Given the description of an element on the screen output the (x, y) to click on. 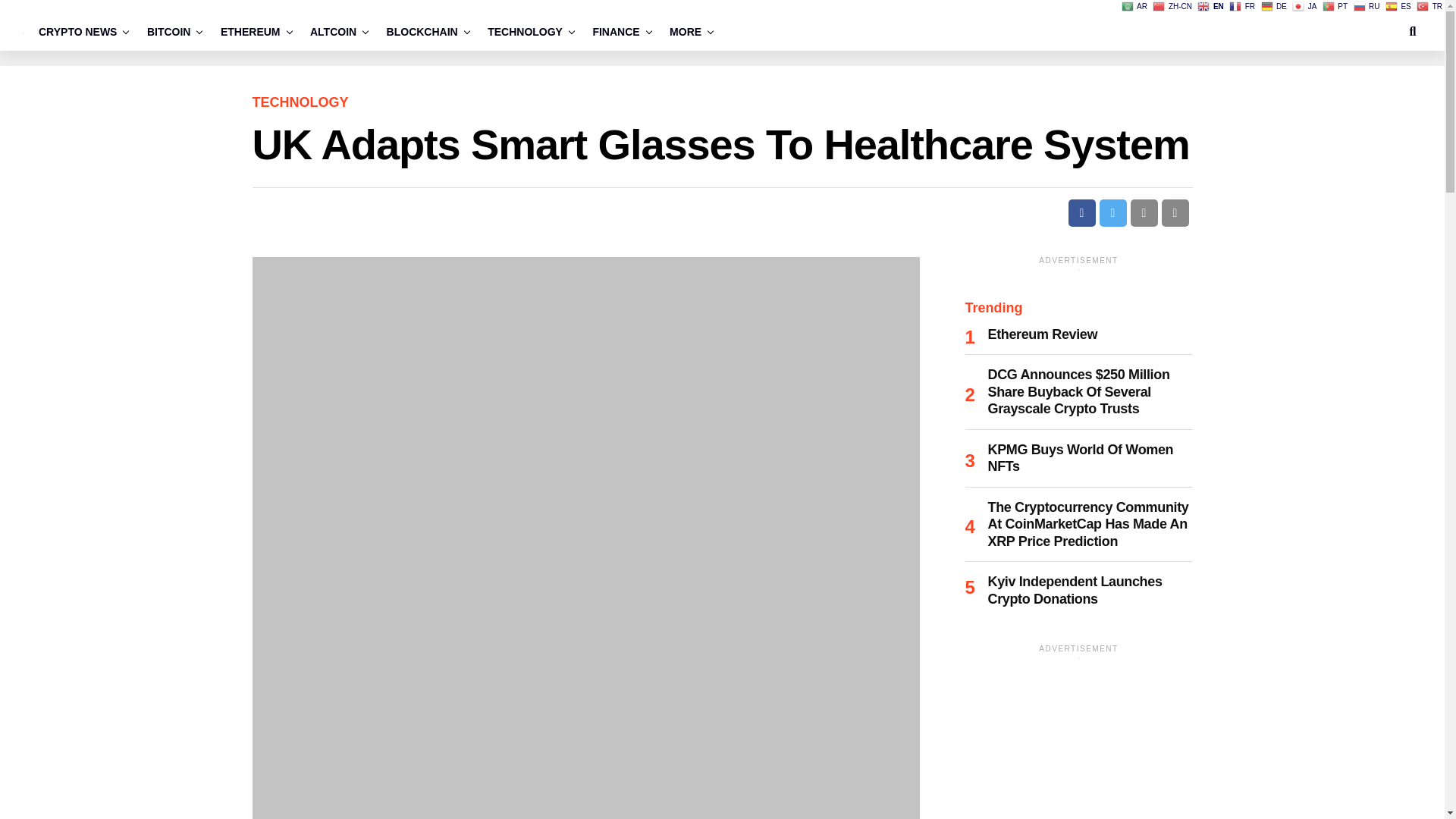
Arabic (1135, 6)
DE (1274, 6)
FR (1242, 6)
EN (1210, 6)
Share on Facebook (1080, 212)
Russian (1367, 6)
French (1242, 6)
CRYPTO NEWS (81, 31)
RU (1367, 6)
ZH-CN (1173, 6)
